Given the description of an element on the screen output the (x, y) to click on. 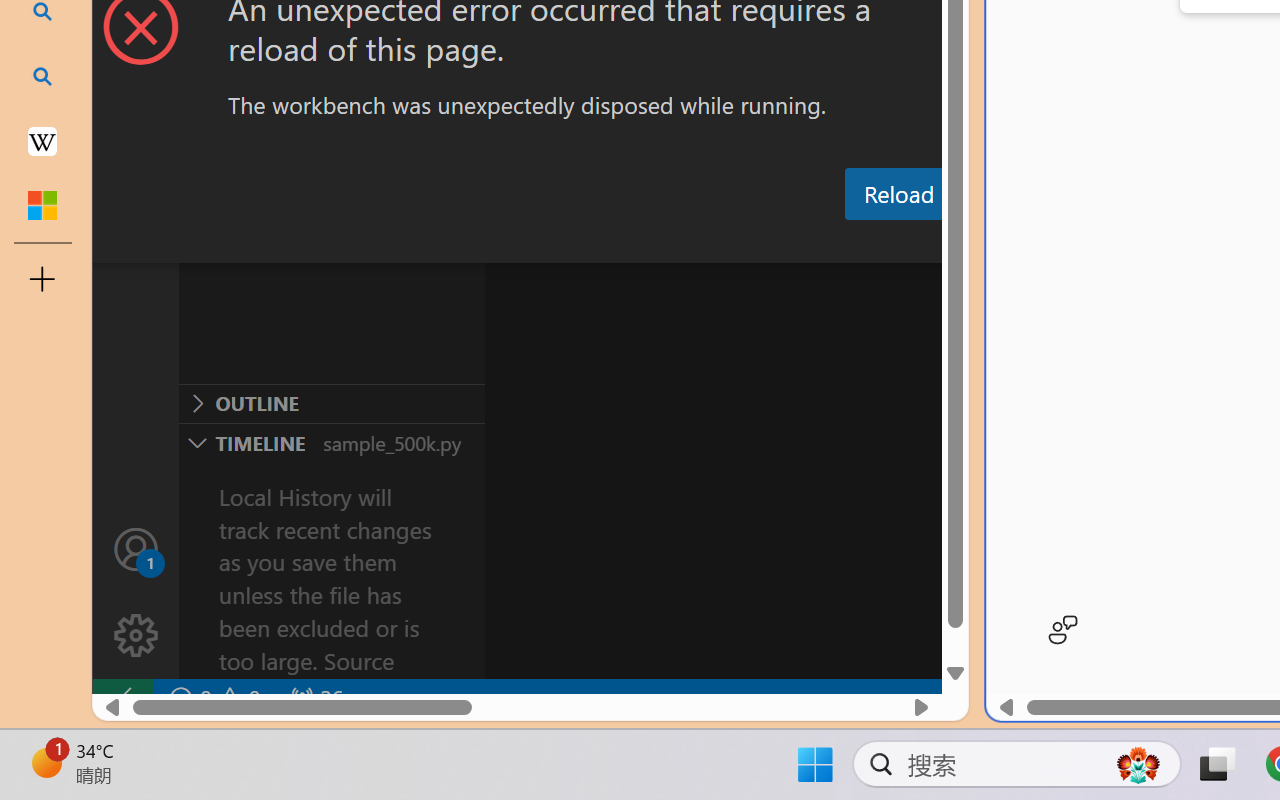
Problems (Ctrl+Shift+M) (567, 243)
remote (122, 698)
Manage (135, 635)
Terminal (Ctrl+`) (1021, 243)
Output (Ctrl+Shift+U) (696, 243)
